Given the description of an element on the screen output the (x, y) to click on. 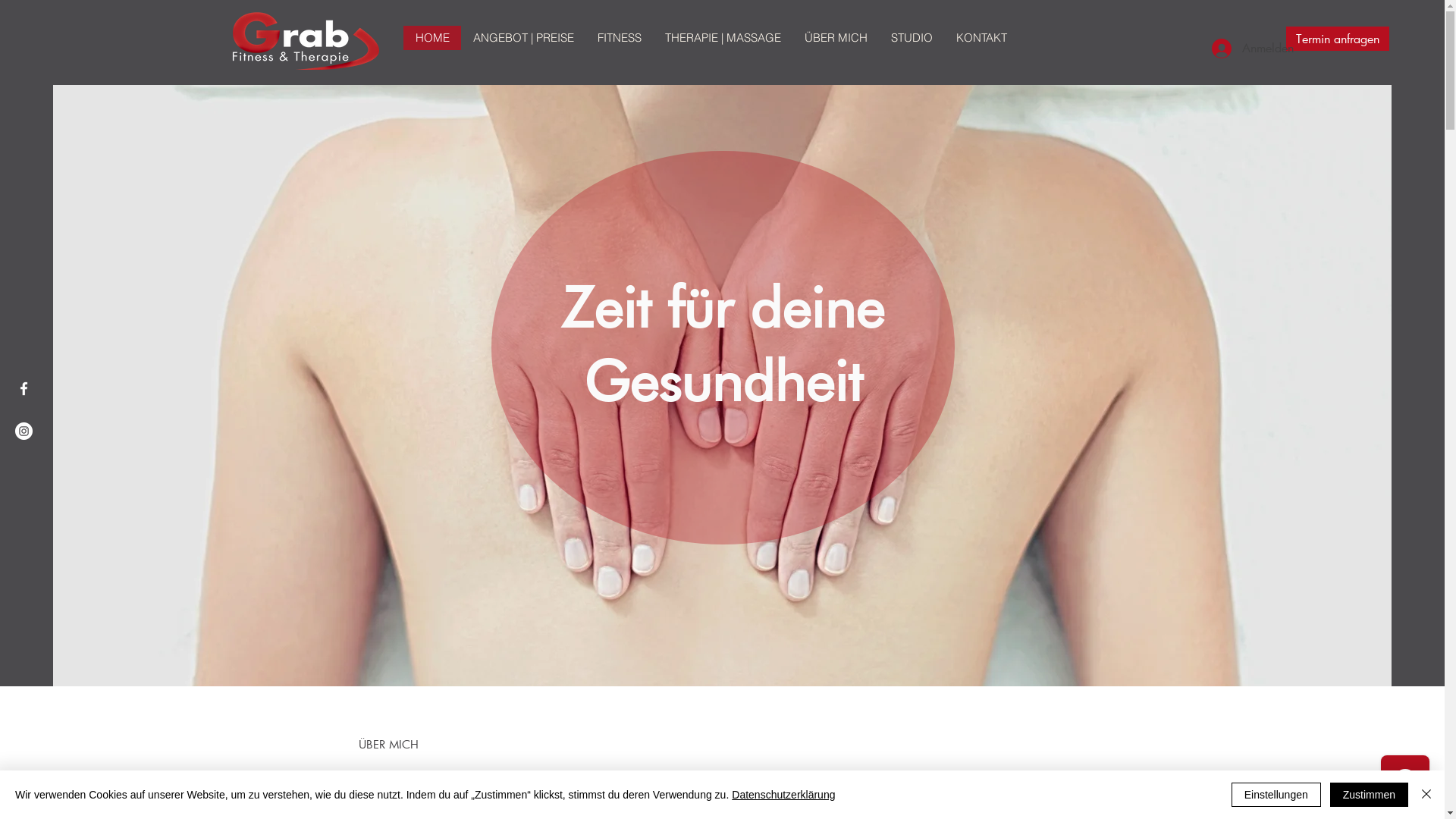
THERAPIE | MASSAGE Element type: text (721, 37)
Einstellungen Element type: text (1276, 794)
HOME Element type: text (432, 37)
STUDIO Element type: text (910, 37)
Termin anfragen Element type: text (1337, 38)
Anmelden Element type: text (1232, 47)
Zustimmen Element type: text (1369, 794)
KONTAKT Element type: text (980, 37)
FITNESS Element type: text (618, 37)
ANGEBOT | PREISE Element type: text (523, 37)
